Given the description of an element on the screen output the (x, y) to click on. 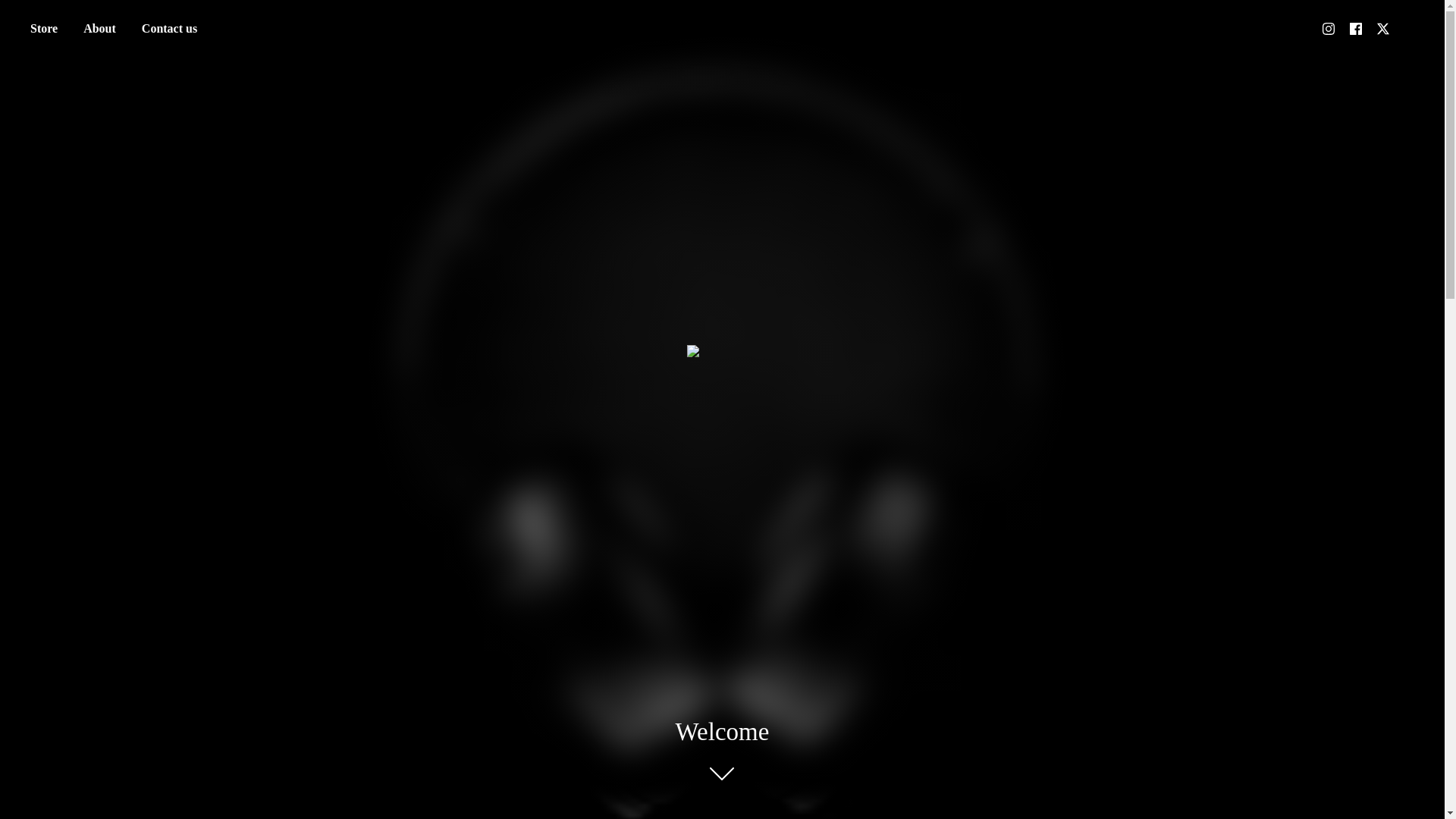
Contact us (169, 29)
About (99, 29)
Store (43, 29)
